Given the description of an element on the screen output the (x, y) to click on. 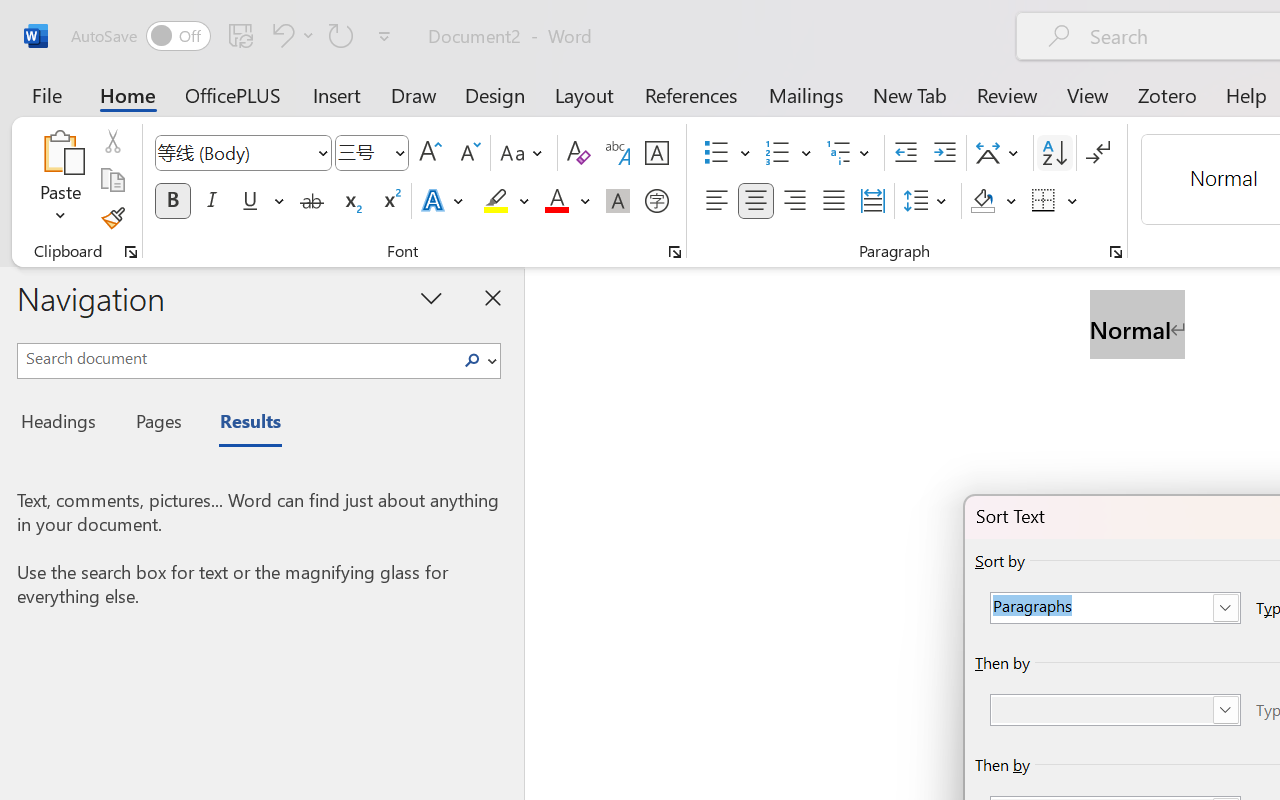
Italic (212, 201)
Bullets (716, 153)
Sort by (1115, 608)
Numbering (778, 153)
Strikethrough (312, 201)
View (1087, 94)
Increase Indent (944, 153)
Cut (112, 141)
Insert (337, 94)
Save (241, 35)
Text Effects and Typography (444, 201)
